Given the description of an element on the screen output the (x, y) to click on. 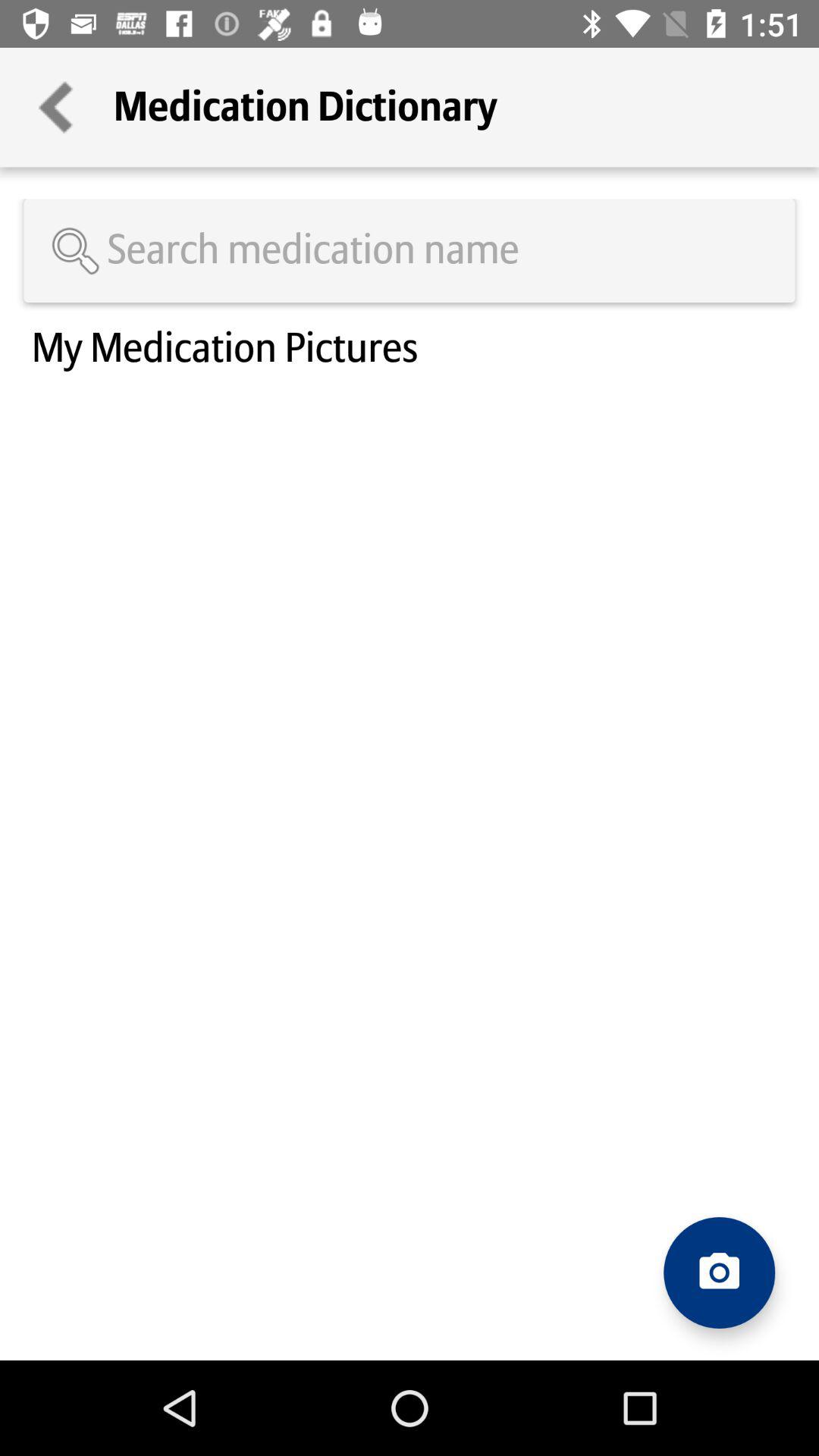
choose icon at the bottom right corner (719, 1272)
